Given the description of an element on the screen output the (x, y) to click on. 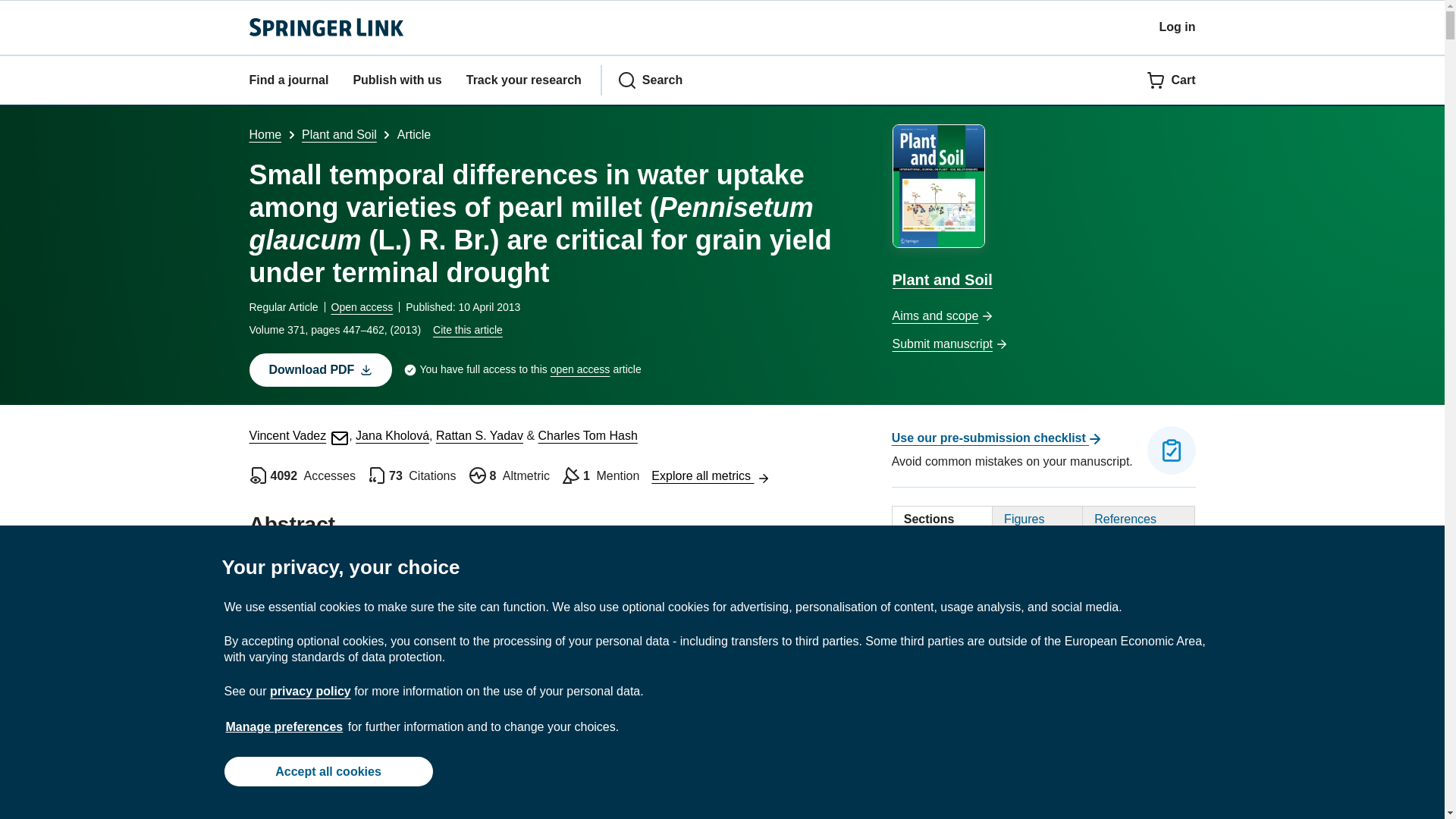
Aims and scope (1043, 316)
open access (580, 369)
Home (264, 133)
privacy policy (309, 690)
Cite this article (467, 329)
Vincent Vadez (298, 435)
Plant and Soil (339, 133)
Search (649, 79)
Publish with us (396, 79)
Submit manuscript (1043, 344)
